Given the description of an element on the screen output the (x, y) to click on. 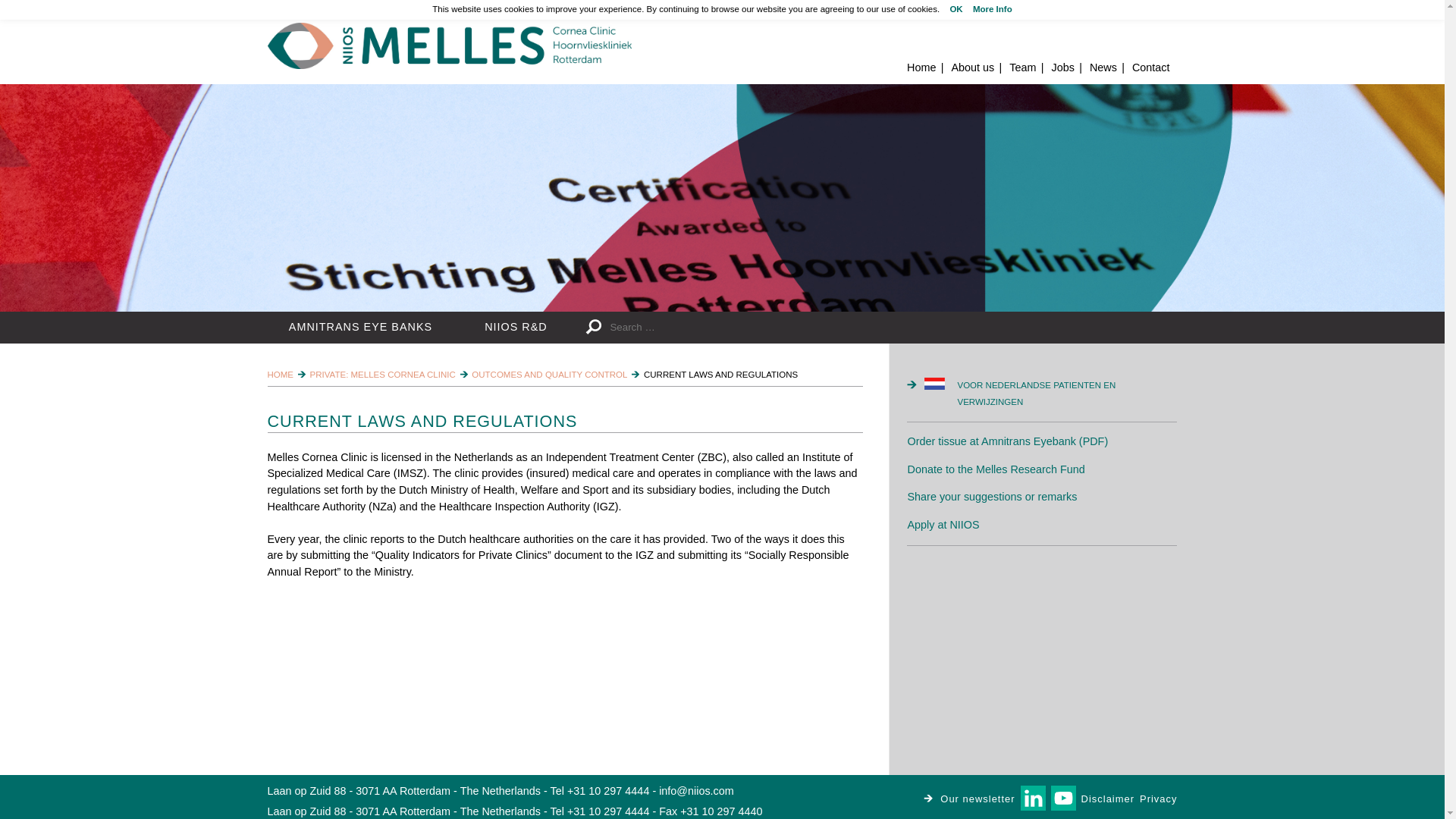
VOOR NEDERLANDSE PATIENTEN EN VERWIJZINGEN (1050, 393)
HOME (280, 374)
Disclaimer (1107, 797)
Our newsletter (968, 797)
News (1102, 67)
Home (921, 67)
Donate to the Melles Research Fund (995, 469)
Privacy (1158, 797)
OUTCOMES AND QUALITY CONTROL (549, 374)
Home (448, 45)
